Given the description of an element on the screen output the (x, y) to click on. 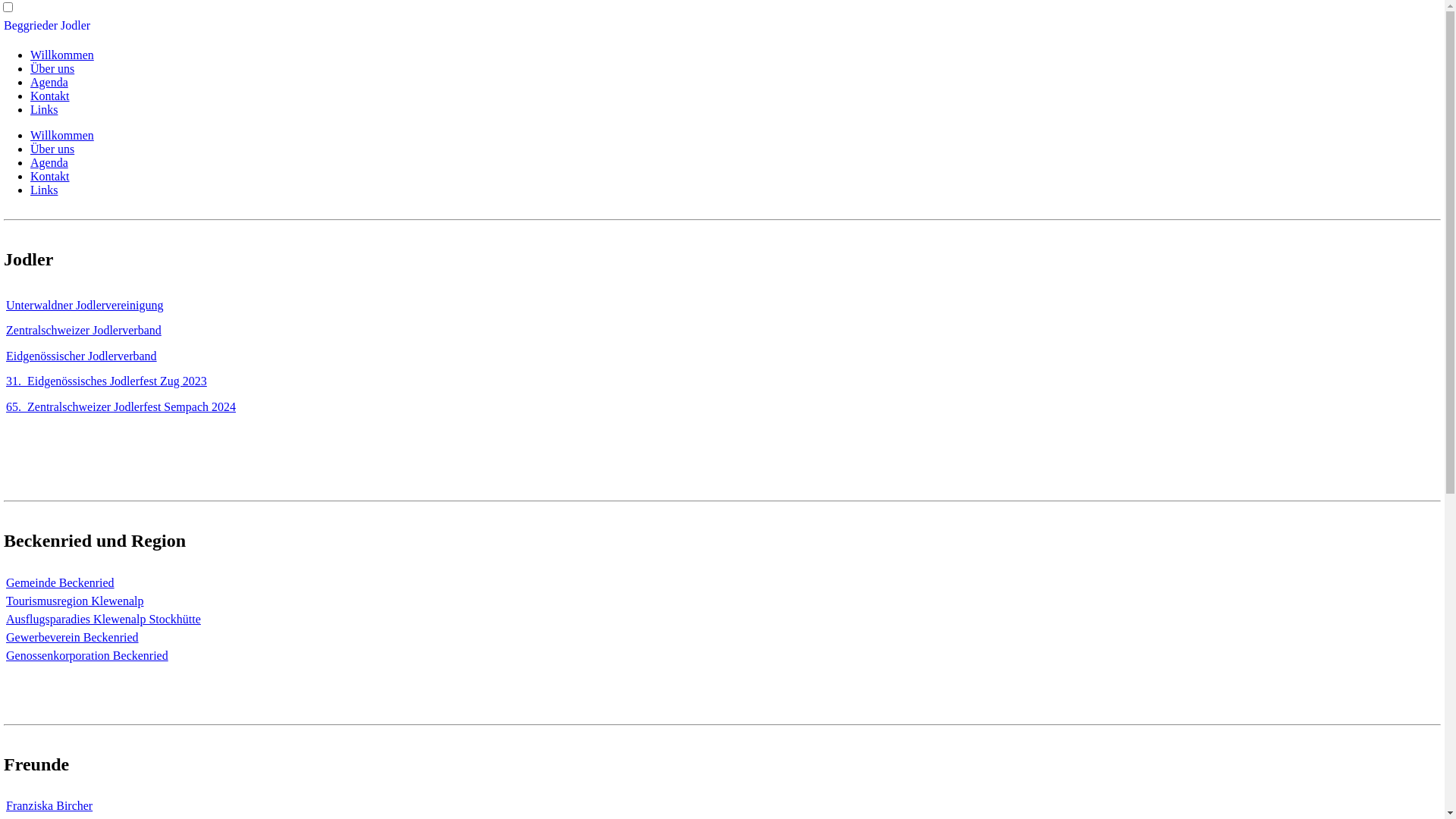
65.  Zentralschweizer Jodlerfest Sempach 2024 Element type: text (120, 406)
Genossenkorporation Beckenried Element type: text (87, 655)
Links Element type: text (43, 109)
Willkommen Element type: text (62, 54)
Willkommen Element type: text (62, 134)
Unterwaldner Jodlervereinigung Element type: text (84, 304)
Agenda Element type: text (49, 81)
Franziska Bircher Element type: text (49, 805)
Gewerbeverein Beckenried Element type: text (72, 636)
Kontakt Element type: text (49, 175)
Kontakt Element type: text (49, 95)
Agenda Element type: text (49, 162)
Zentralschweizer Jodlerverband Element type: text (83, 329)
Beggrieder Jodler Element type: text (46, 24)
Links Element type: text (43, 189)
Gemeinde Beckenried Element type: text (60, 582)
Tourismusregion Klewenalp Element type: text (75, 600)
